Given the description of an element on the screen output the (x, y) to click on. 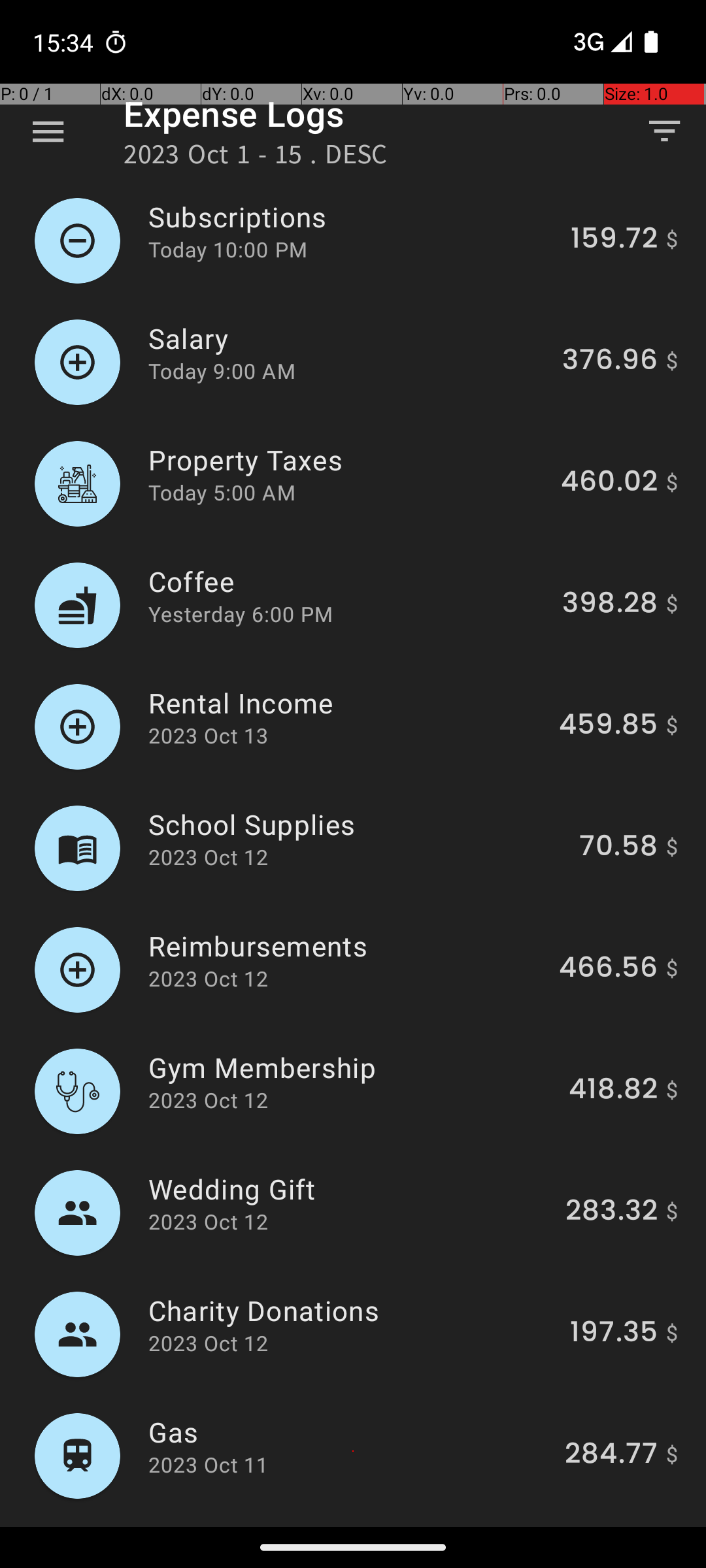
2023 Oct 1 - 15 . DESC Element type: android.widget.TextView (255, 157)
159.72 Element type: android.widget.TextView (614, 240)
Salary Element type: android.widget.TextView (347, 337)
376.96 Element type: android.widget.TextView (609, 362)
Property Taxes Element type: android.widget.TextView (346, 459)
460.02 Element type: android.widget.TextView (609, 483)
Yesterday 6:00 PM Element type: android.widget.TextView (240, 613)
398.28 Element type: android.widget.TextView (609, 605)
459.85 Element type: android.widget.TextView (608, 726)
School Supplies Element type: android.widget.TextView (355, 823)
70.58 Element type: android.widget.TextView (618, 848)
Reimbursements Element type: android.widget.TextView (345, 945)
466.56 Element type: android.widget.TextView (608, 969)
Gym Membership Element type: android.widget.TextView (350, 1066)
418.82 Element type: android.widget.TextView (613, 1091)
283.32 Element type: android.widget.TextView (611, 1212)
197.35 Element type: android.widget.TextView (613, 1334)
284.77 Element type: android.widget.TextView (611, 1455)
